Given the description of an element on the screen output the (x, y) to click on. 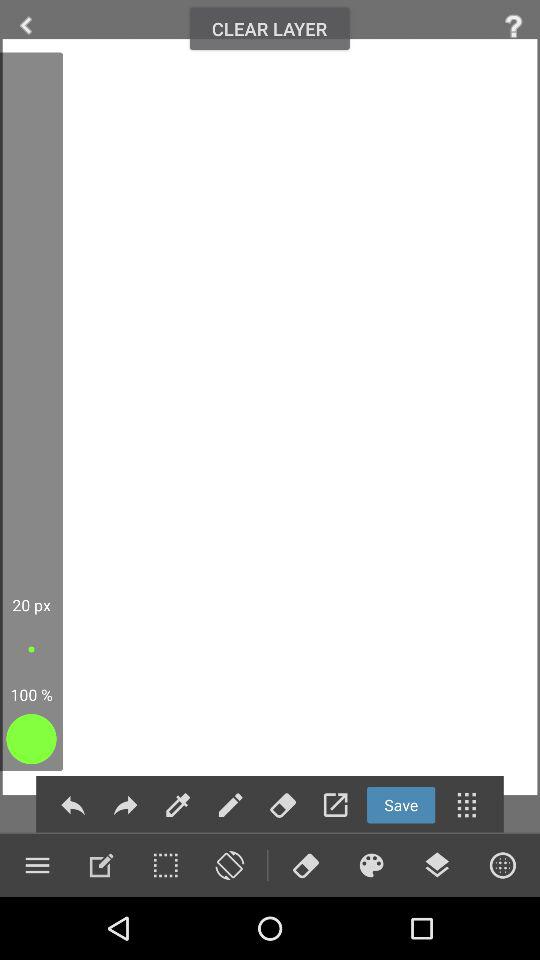
add tags to this project (282, 804)
